Given the description of an element on the screen output the (x, y) to click on. 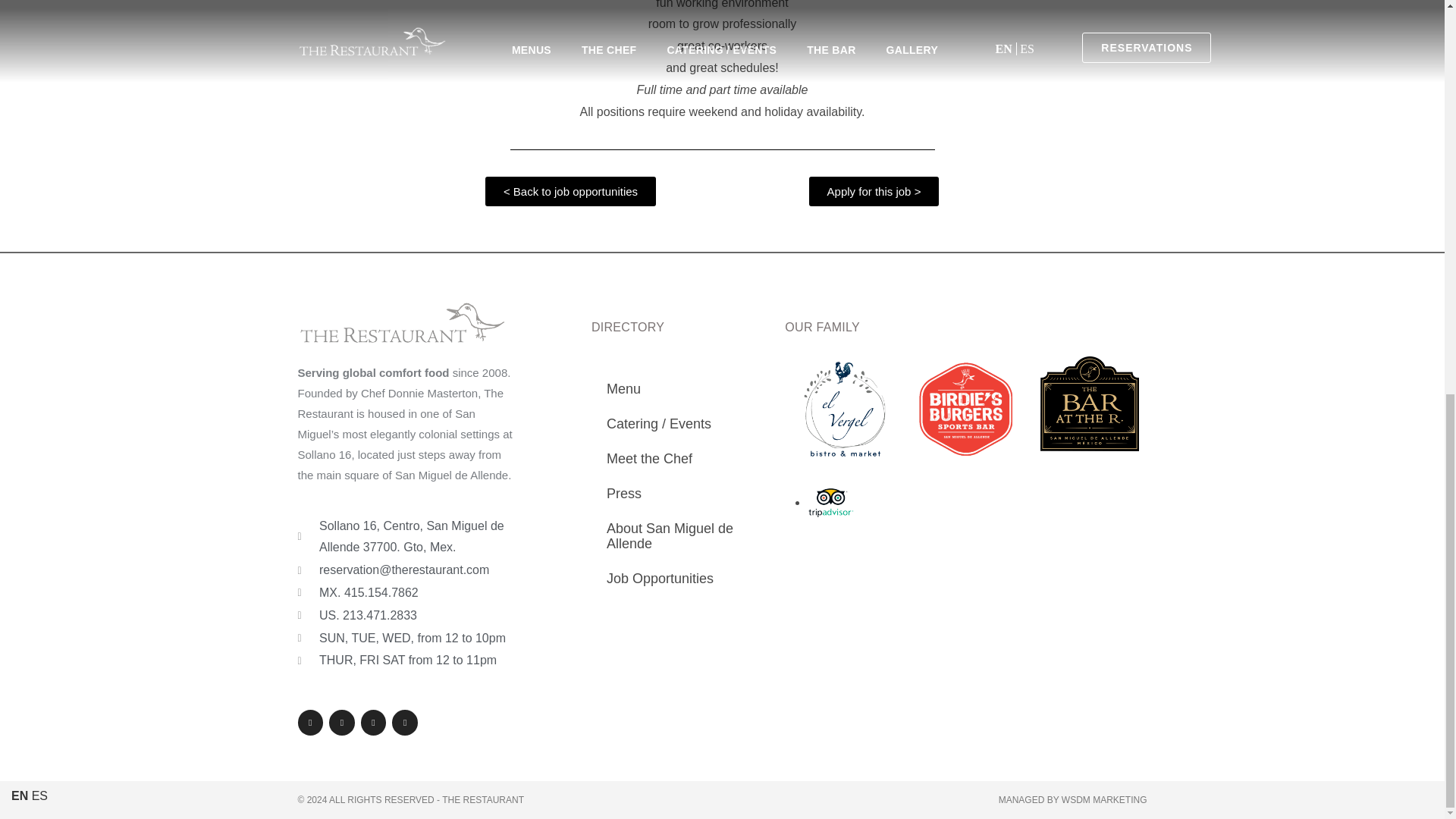
English (19, 35)
Sollano 16, Centro, San Miguel de Allende 37700. Gto, Mex. (406, 537)
Spanish (40, 35)
US. 213.471.2833 (406, 616)
MX. 415.154.7862 (406, 593)
